Given the description of an element on the screen output the (x, y) to click on. 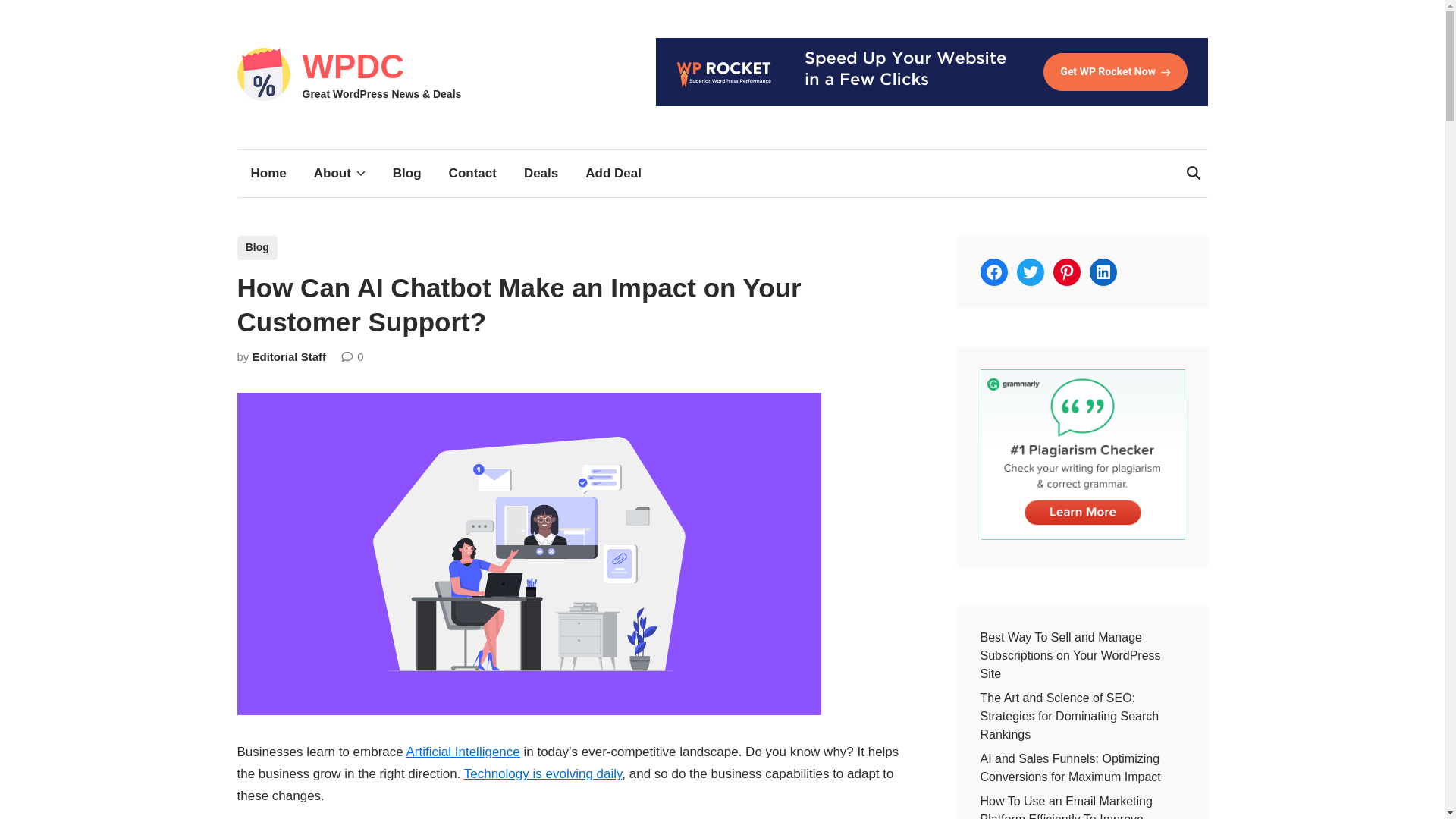
WPDC (352, 66)
Contact (473, 173)
Blog (406, 173)
Technology is evolving daily (543, 773)
Home (267, 173)
Blog (255, 247)
About (338, 173)
Editorial Staff (288, 356)
Artificial Intelligence (462, 751)
Deals (541, 173)
